Given the description of an element on the screen output the (x, y) to click on. 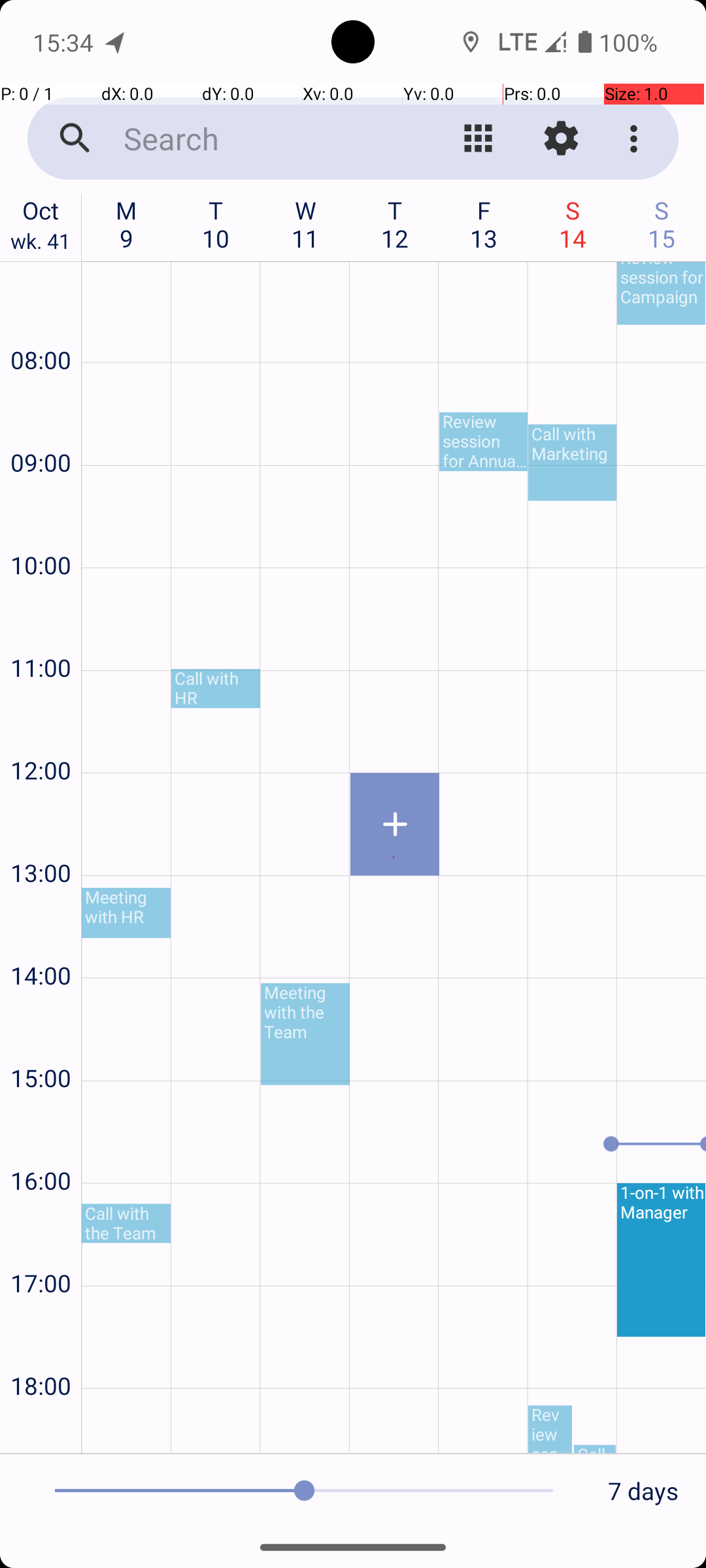
1-on-1 with Manager Element type: android.widget.TextView (661, 1259)
